Given the description of an element on the screen output the (x, y) to click on. 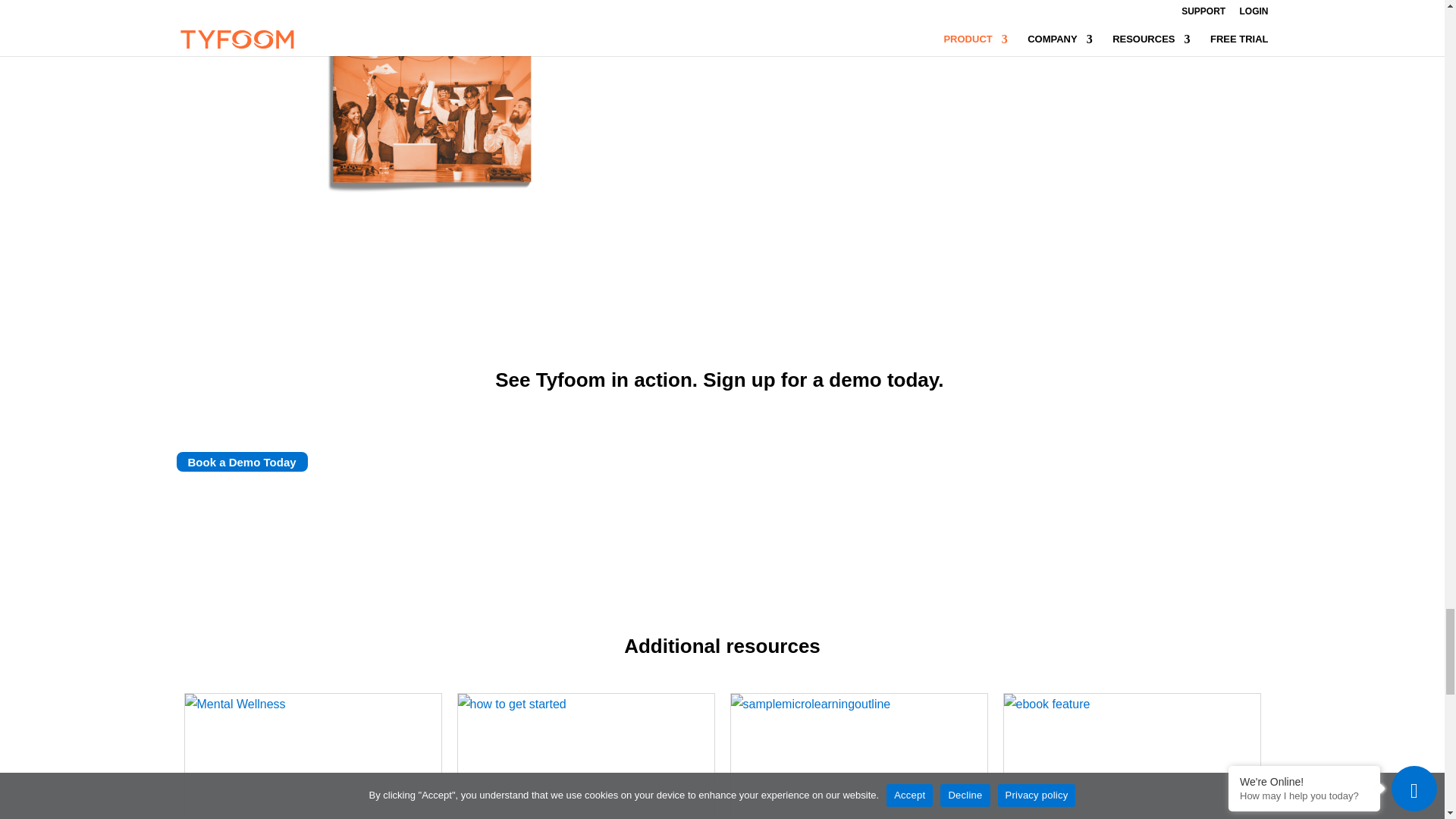
eBookMockup (433, 99)
